Given the description of an element on the screen output the (x, y) to click on. 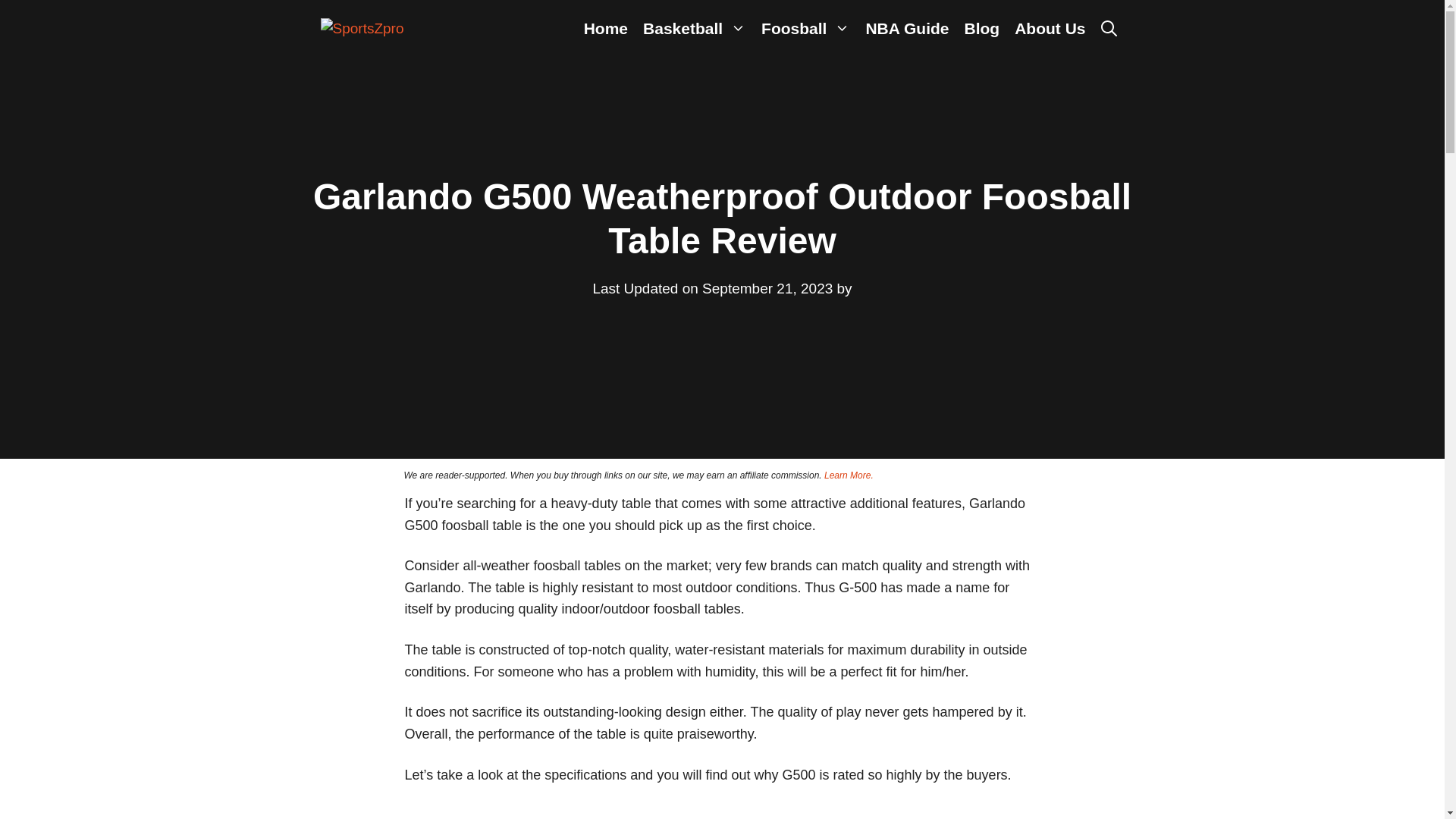
About Us (1050, 28)
Learn More. (848, 475)
Basketball (694, 28)
SportsZpro (361, 29)
SportsZpro (361, 27)
Blog (981, 28)
NBA Guide (906, 28)
Home (605, 28)
Foosball (805, 28)
